Given the description of an element on the screen output the (x, y) to click on. 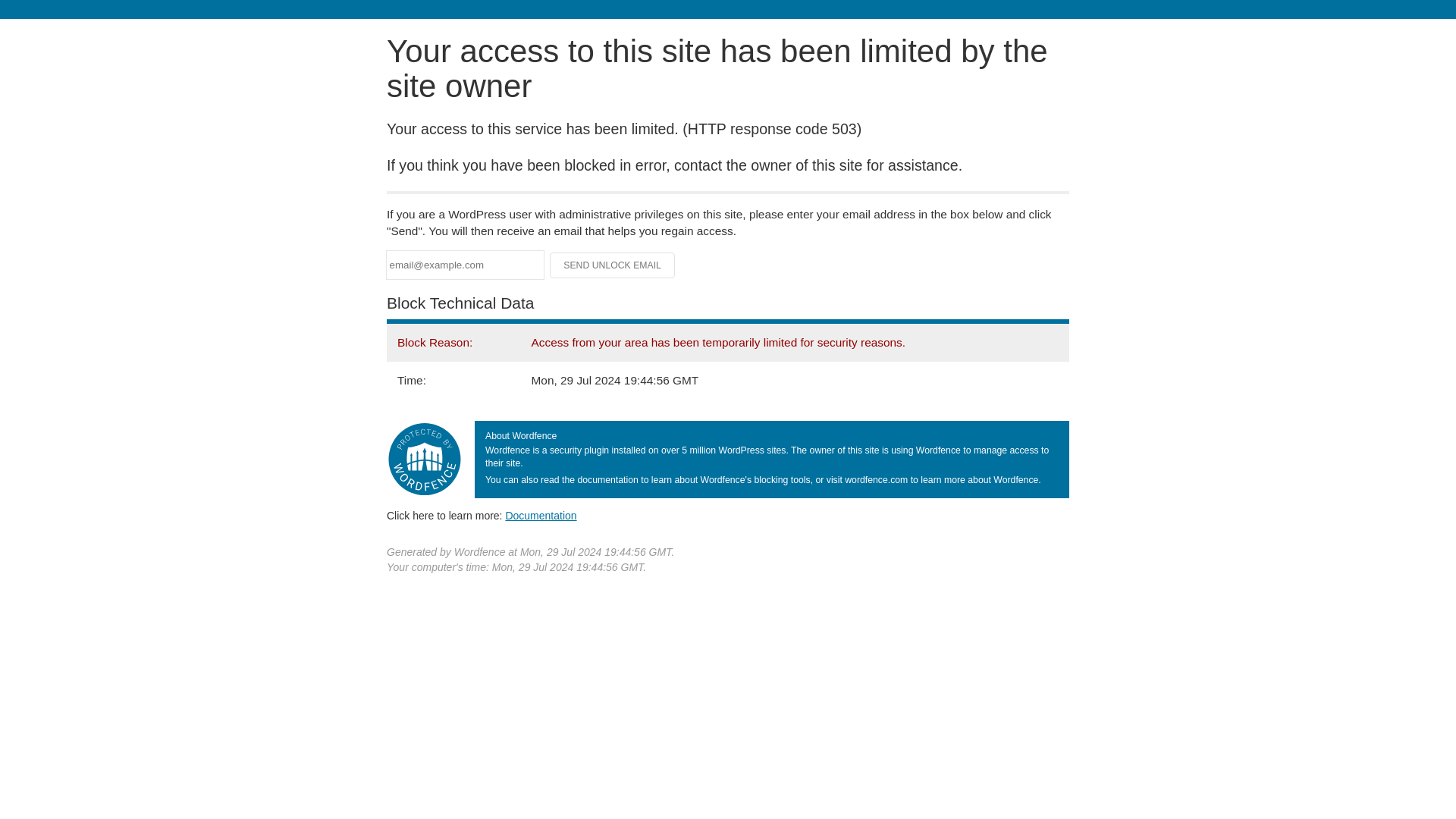
Documentation (540, 515)
Send Unlock Email (612, 265)
Send Unlock Email (612, 265)
